Given the description of an element on the screen output the (x, y) to click on. 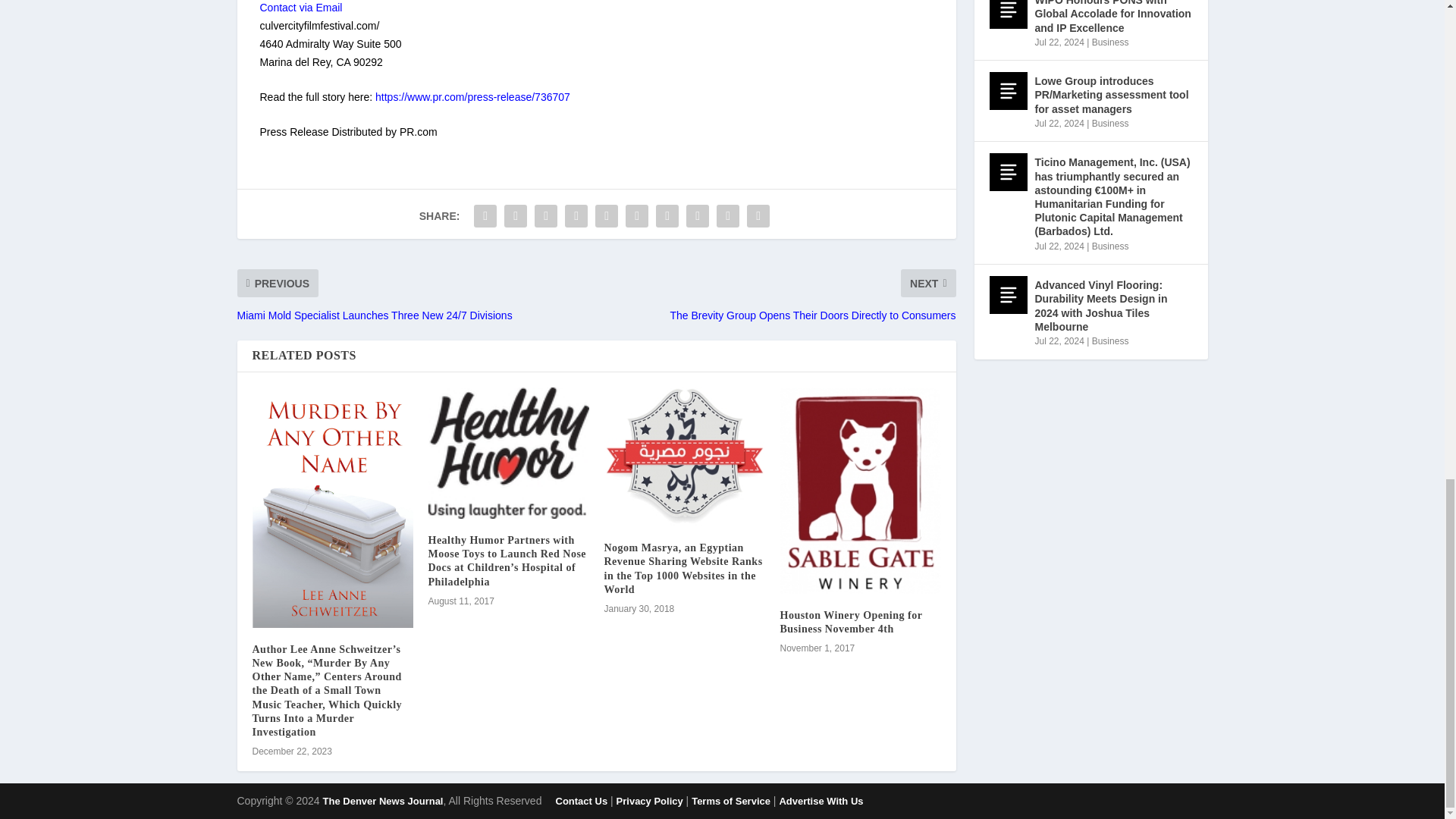
Contact via Email (300, 7)
